Given the description of an element on the screen output the (x, y) to click on. 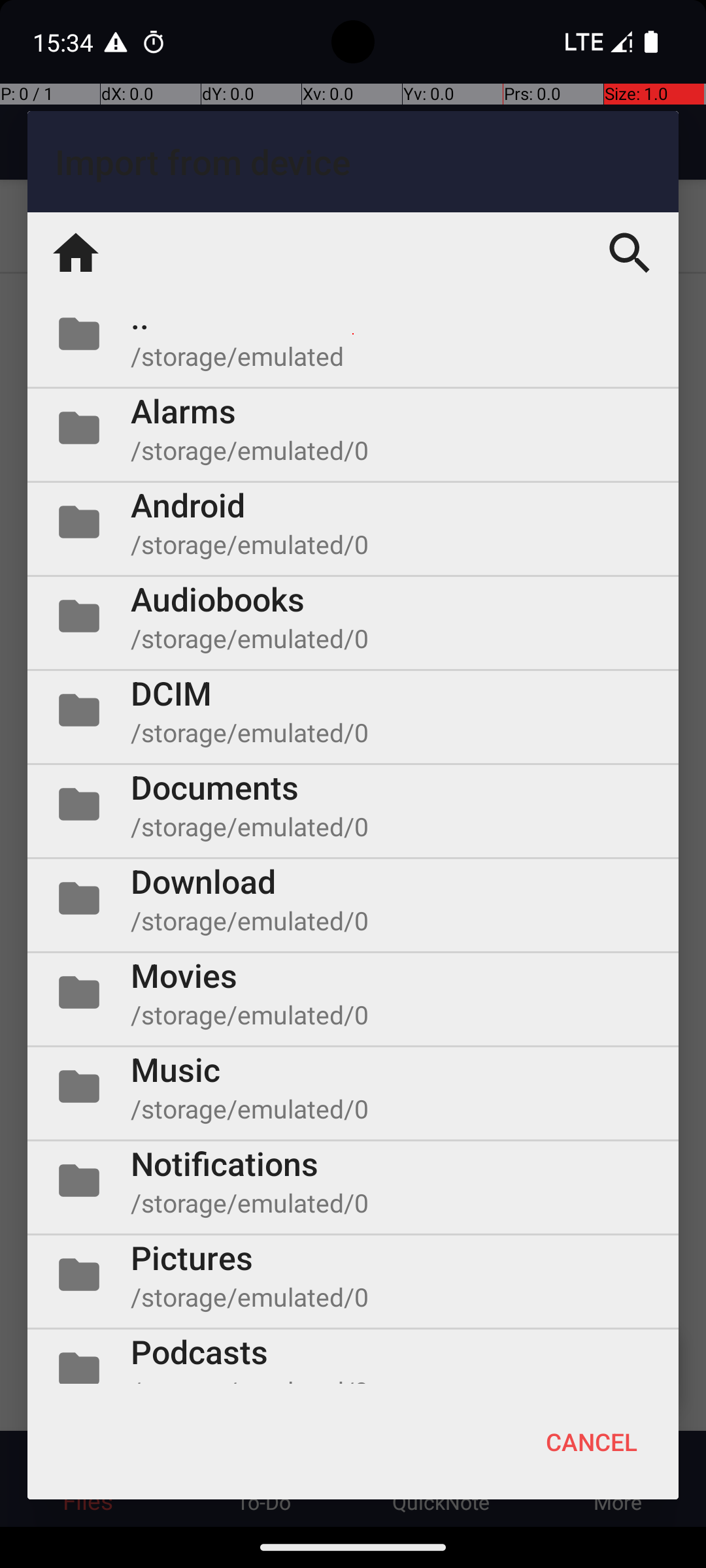
Import from device Element type: android.widget.TextView (352, 161)
Folder .. /storage/emulated/0 Element type: android.widget.LinearLayout (352, 333)
Folder Alarms /storage/emulated/0 Element type: android.widget.LinearLayout (352, 427)
Folder Android /storage/emulated/0 Element type: android.widget.LinearLayout (352, 521)
Folder Audiobooks /storage/emulated/0 Element type: android.widget.LinearLayout (352, 615)
Folder DCIM /storage/emulated/0 Element type: android.widget.LinearLayout (352, 709)
Folder Documents  Element type: android.widget.LinearLayout (352, 804)
Folder Download  Element type: android.widget.LinearLayout (352, 898)
Folder Movies  Element type: android.widget.LinearLayout (352, 992)
Folder Music  Element type: android.widget.LinearLayout (352, 1086)
Folder Notifications  Element type: android.widget.LinearLayout (352, 1180)
Folder Pictures  Element type: android.widget.LinearLayout (352, 1274)
Folder Podcasts  Element type: android.widget.LinearLayout (352, 1356)
